Given the description of an element on the screen output the (x, y) to click on. 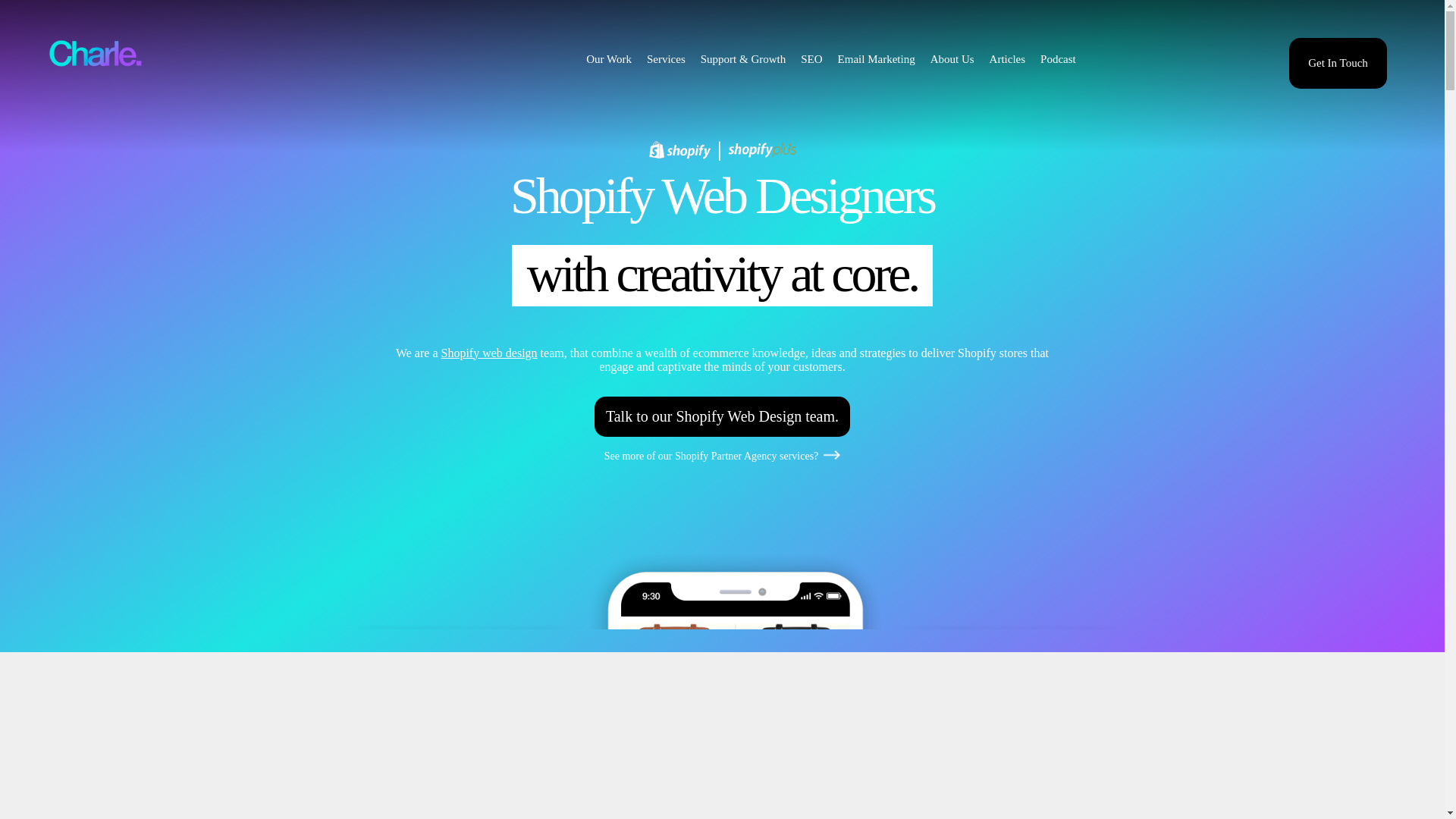
Our Work (608, 59)
See more of our Shopify Partner Agency services?   (722, 476)
Services (665, 59)
Podcast (1058, 59)
About Us (952, 59)
SEO (811, 59)
Talk to our Shopify Web Design team. (722, 417)
Email Marketing (876, 59)
Articles (1007, 59)
